Given the description of an element on the screen output the (x, y) to click on. 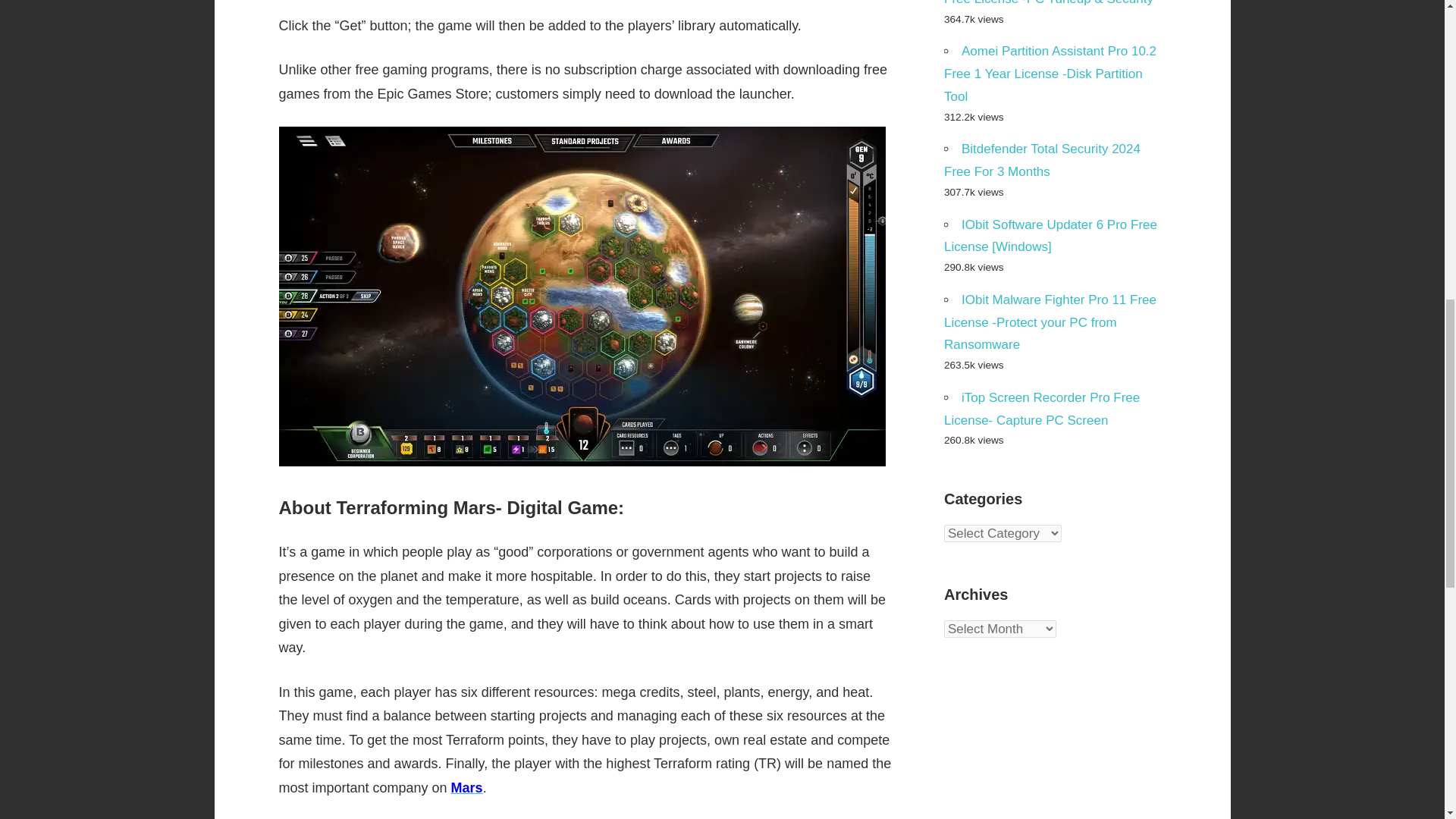
Mars (467, 787)
iTop Screen Recorder Pro Free License- Capture PC Screen (1041, 408)
Bitdefender Total Security 2024 Free For 3 Months (1041, 160)
